Given the description of an element on the screen output the (x, y) to click on. 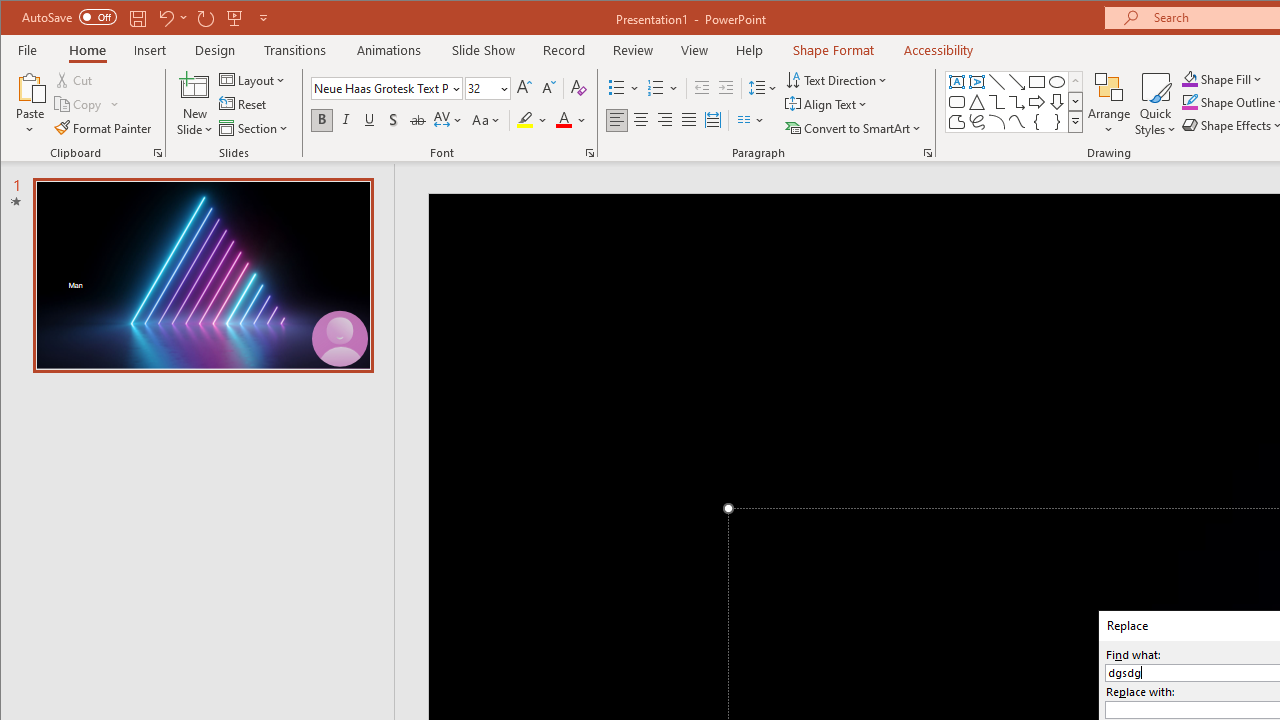
Shape Outline Blue, Accent 1 (1189, 101)
